Given the description of an element on the screen output the (x, y) to click on. 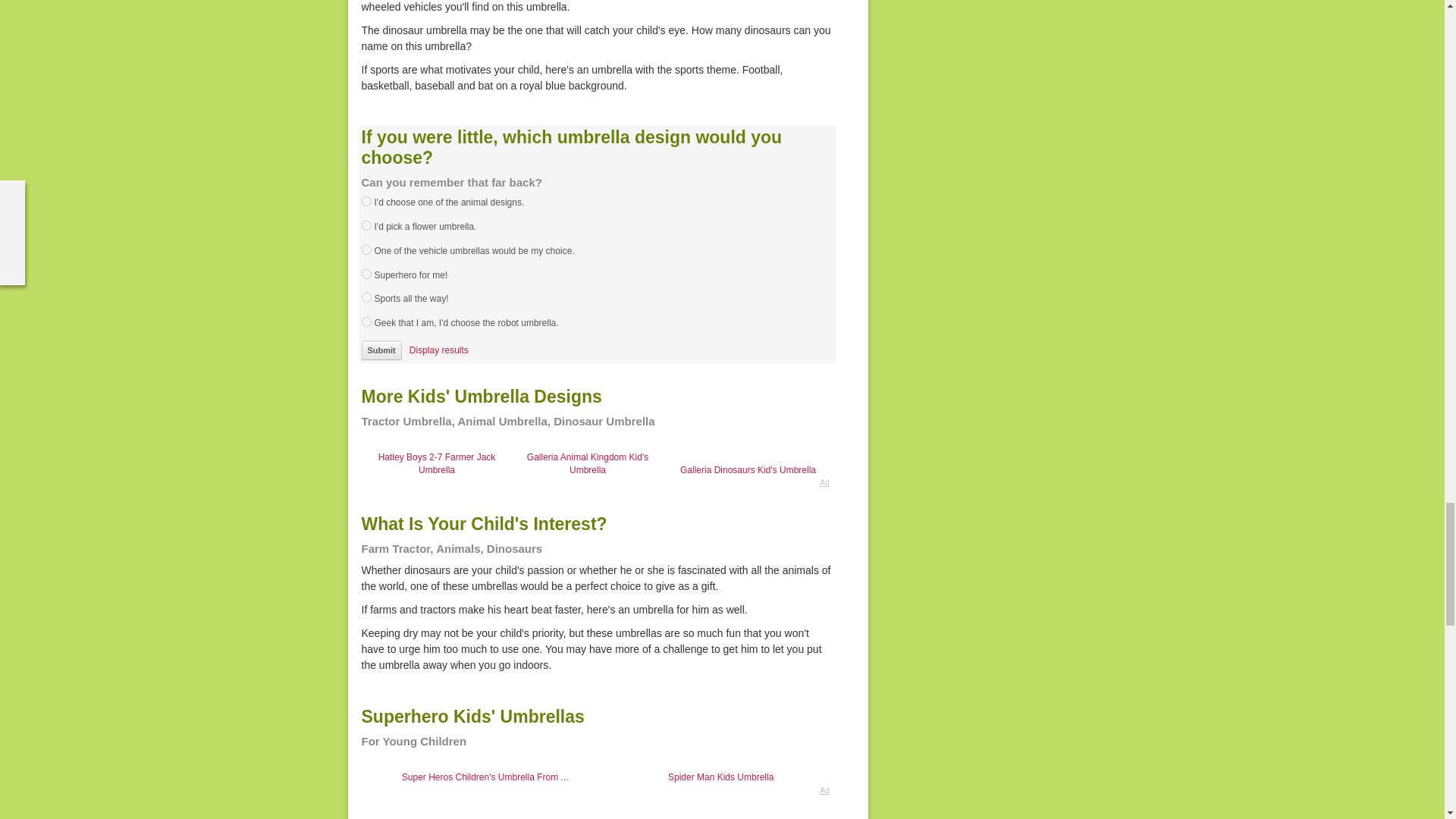
5 (366, 297)
Submit (381, 350)
3 (366, 249)
4 (366, 274)
6 (366, 321)
2 (366, 225)
1 (366, 201)
